Given the description of an element on the screen output the (x, y) to click on. 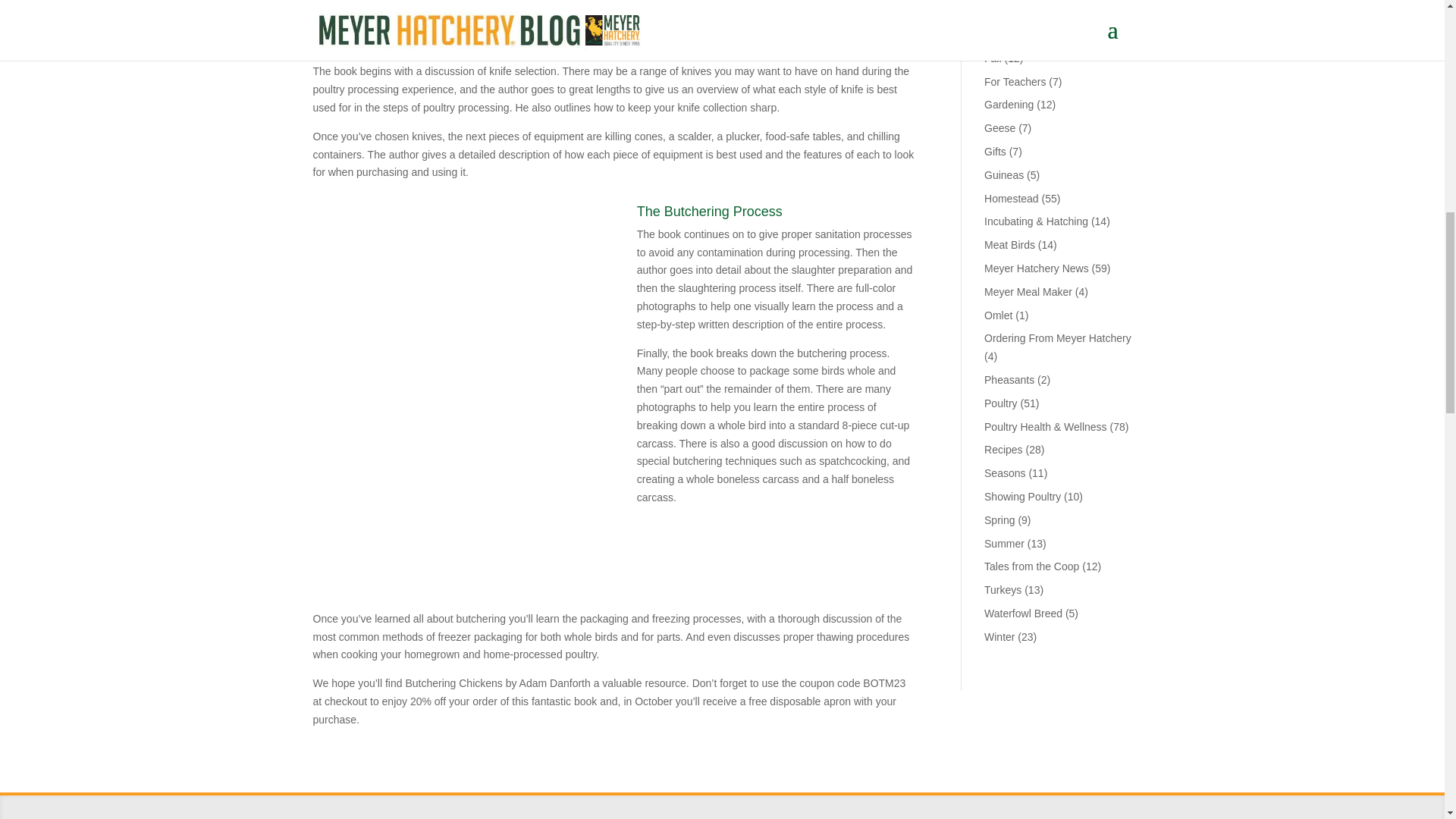
Butchering Chickens (614, 9)
